Given the description of an element on the screen output the (x, y) to click on. 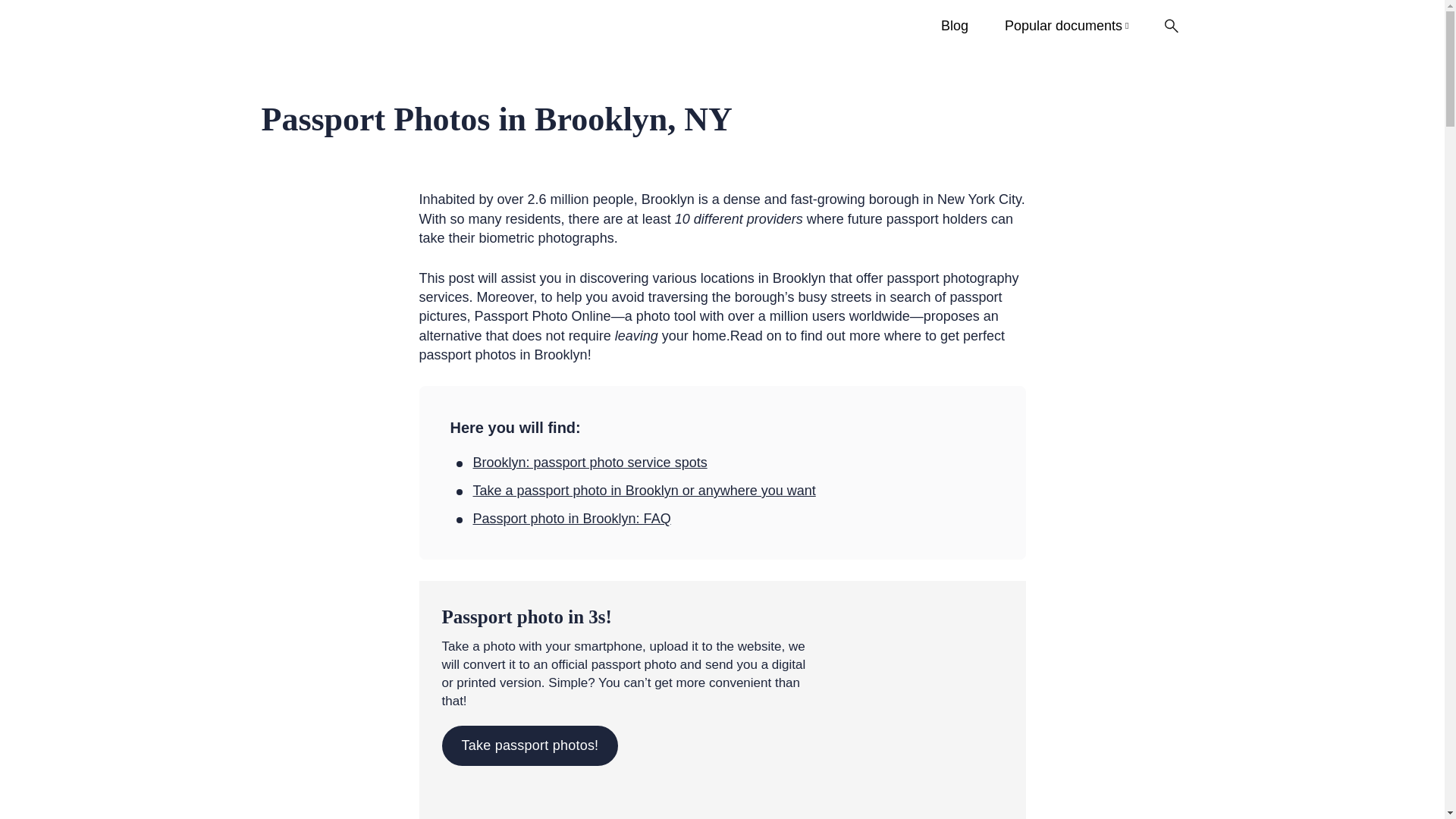
Blog (955, 25)
Popular documents (1067, 25)
Take passport photos! (529, 745)
Passport photo in Brooklyn: FAQ (572, 519)
Take a passport photo in Brooklyn or anywhere you want (644, 490)
Brooklyn: passport photo service spots (590, 462)
